Given the description of an element on the screen output the (x, y) to click on. 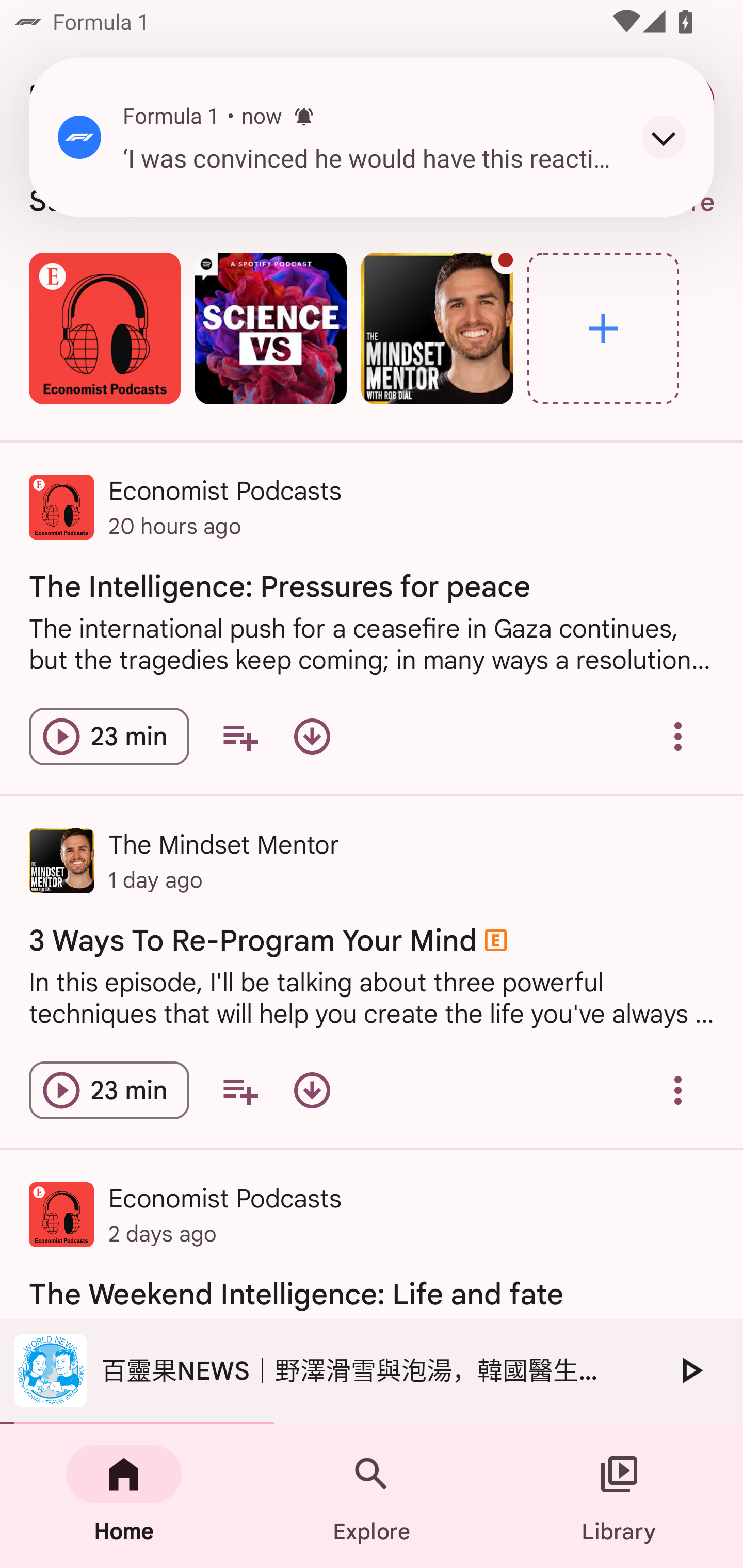
Economist Podcasts (104, 328)
Science Vs (270, 328)
The Mindset Mentor (436, 328)
Explore (603, 328)
Add to your queue (239, 736)
Download episode (312, 736)
Overflow menu (677, 736)
Play episode 3 Ways To Re-Program Your Mind 23 min (108, 1090)
Add to your queue (239, 1090)
Download episode (312, 1090)
Overflow menu (677, 1090)
Play (690, 1370)
Explore (371, 1495)
Library (619, 1495)
